Given the description of an element on the screen output the (x, y) to click on. 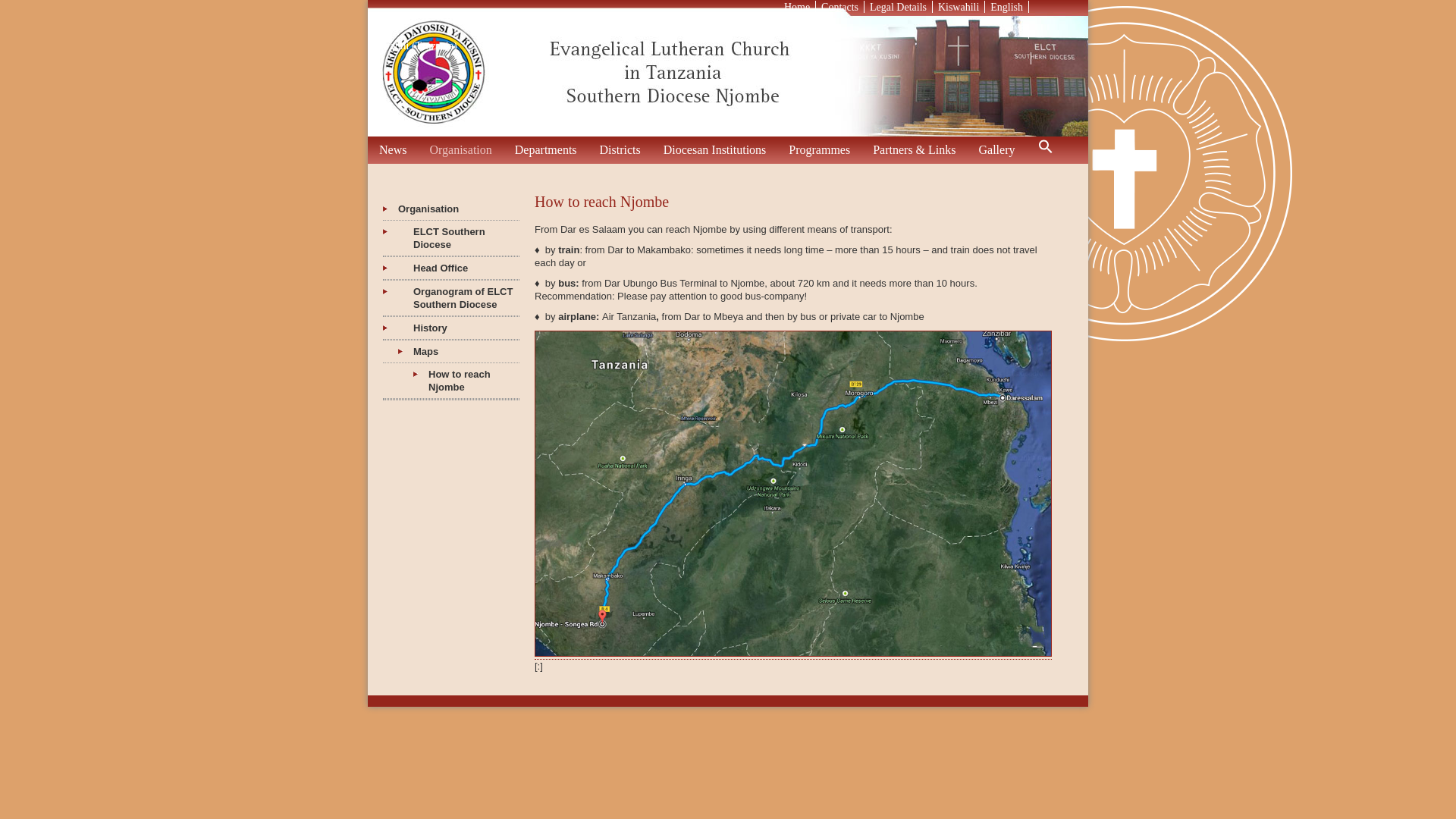
Maps (450, 351)
Districts (620, 149)
GalleryNyumba ya sanaa (997, 149)
Programmes (819, 149)
Organisation (450, 209)
Diocesan InstitutionsTaasisi za Dayosisi (714, 149)
English (699, 19)
Kiswahili (957, 7)
English (1006, 7)
Home (796, 7)
